Given the description of an element on the screen output the (x, y) to click on. 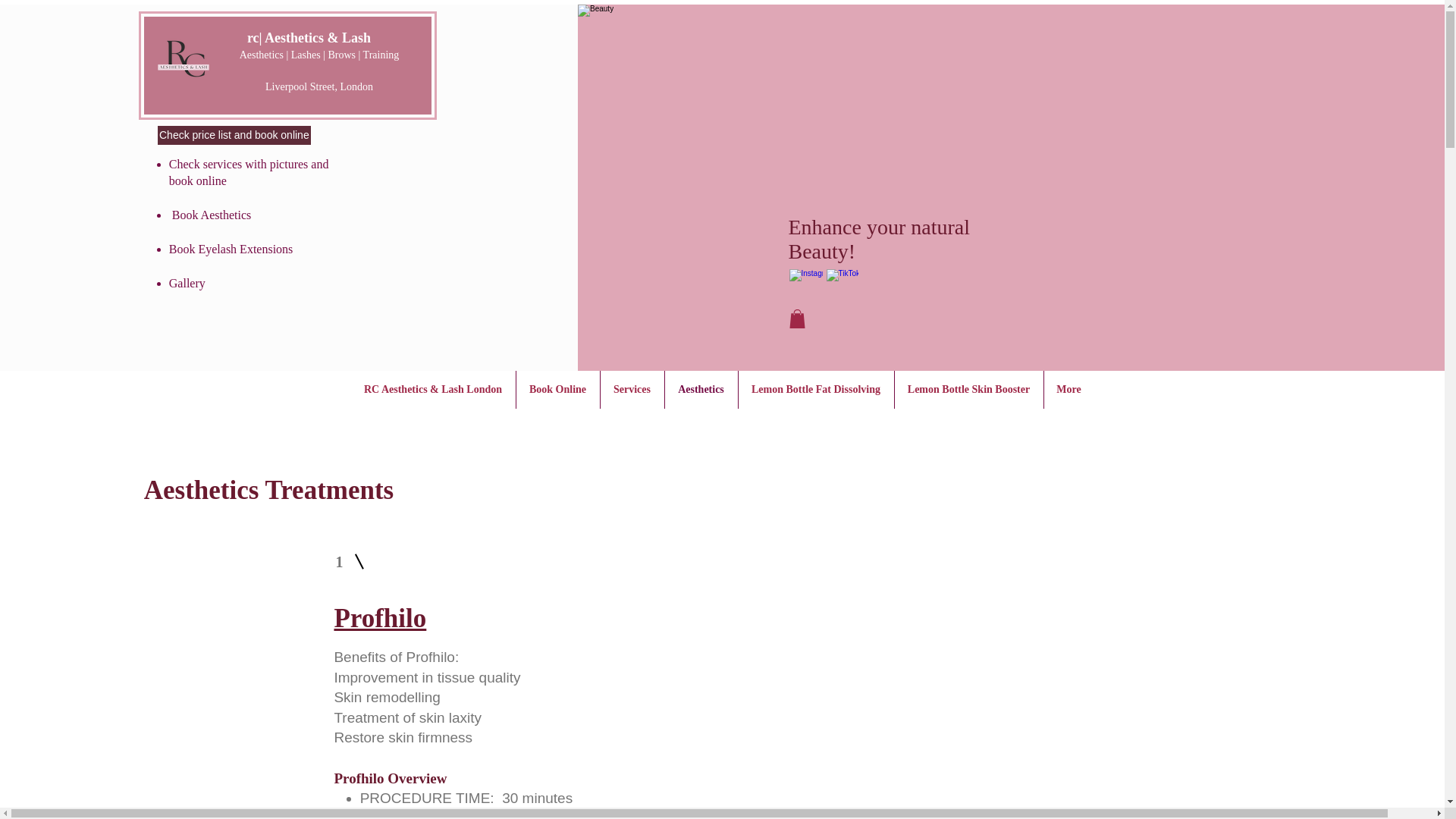
Check services with pictures and book online (248, 172)
Lemon Bottle Fat Dissolving (815, 389)
Lemon Bottle Skin Booster (969, 389)
Services (631, 389)
Aesthetics (699, 389)
Gallery (186, 282)
Check price list and book online (234, 135)
Profhilo (379, 618)
Book Eyelash Extensions (231, 248)
 Book Aesthetics (209, 214)
